Given the description of an element on the screen output the (x, y) to click on. 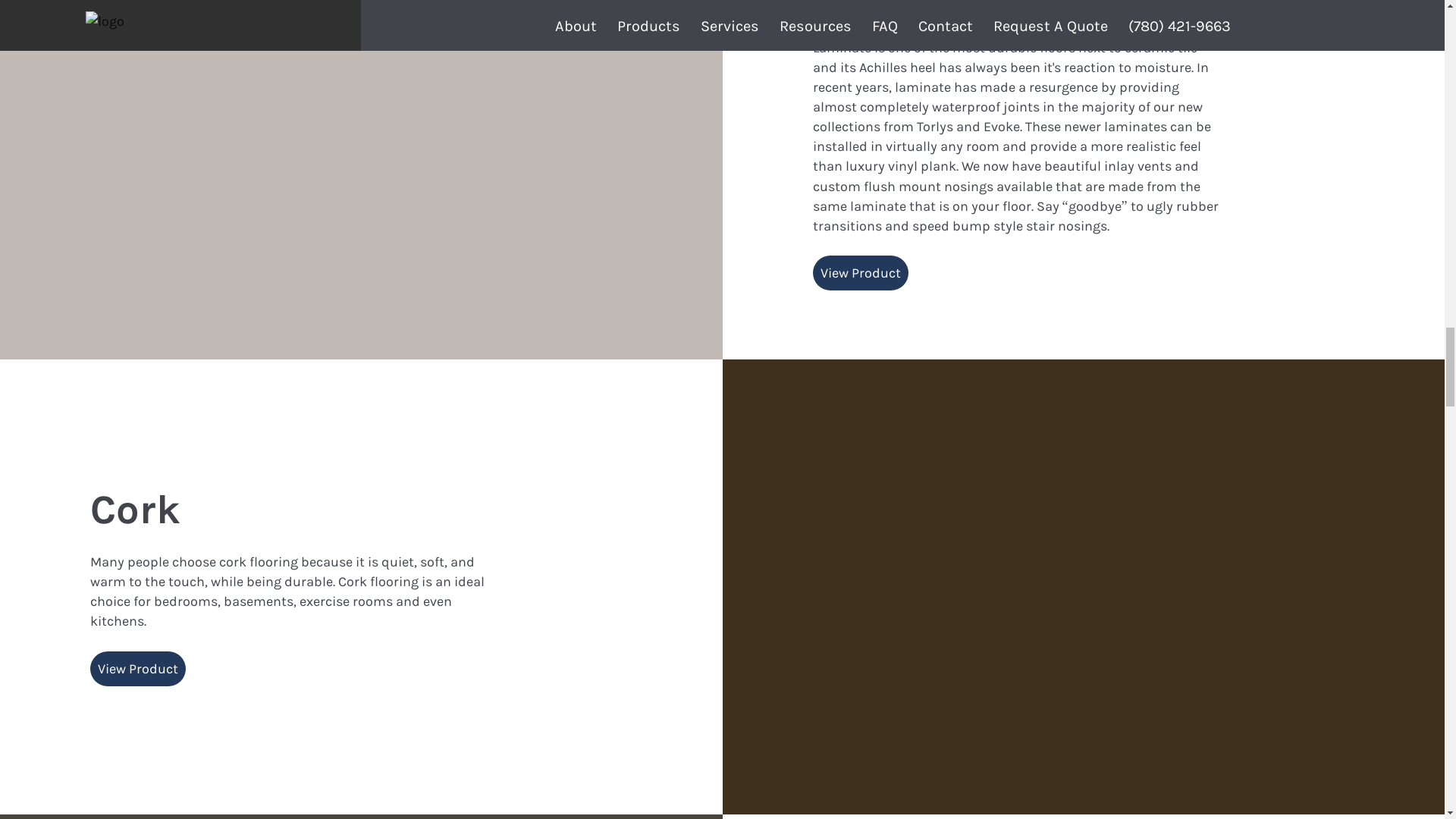
Laminate (904, 9)
View Product (860, 272)
View Product (138, 668)
Cork (134, 509)
